Given the description of an element on the screen output the (x, y) to click on. 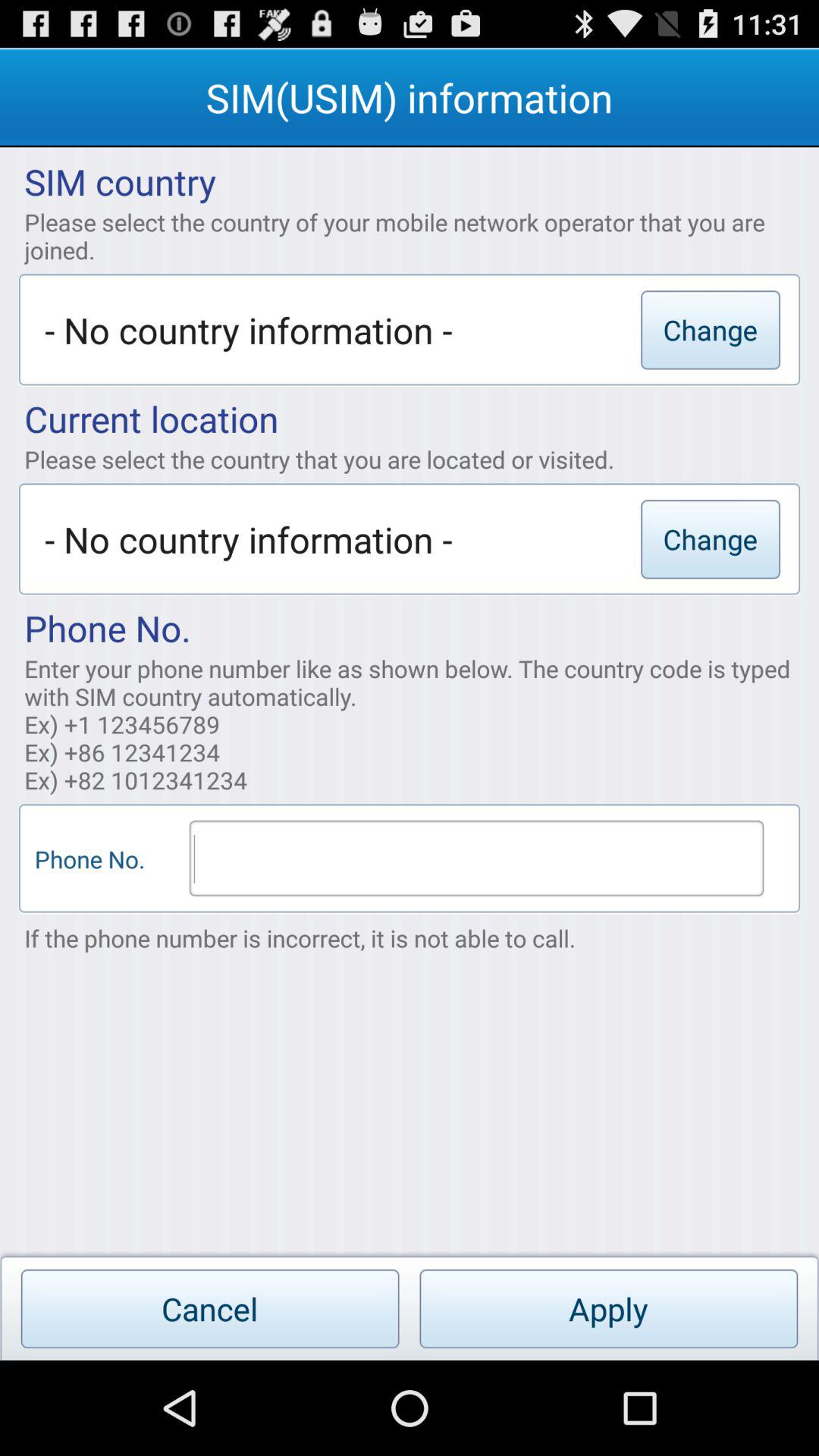
enter phone number (476, 858)
